Given the description of an element on the screen output the (x, y) to click on. 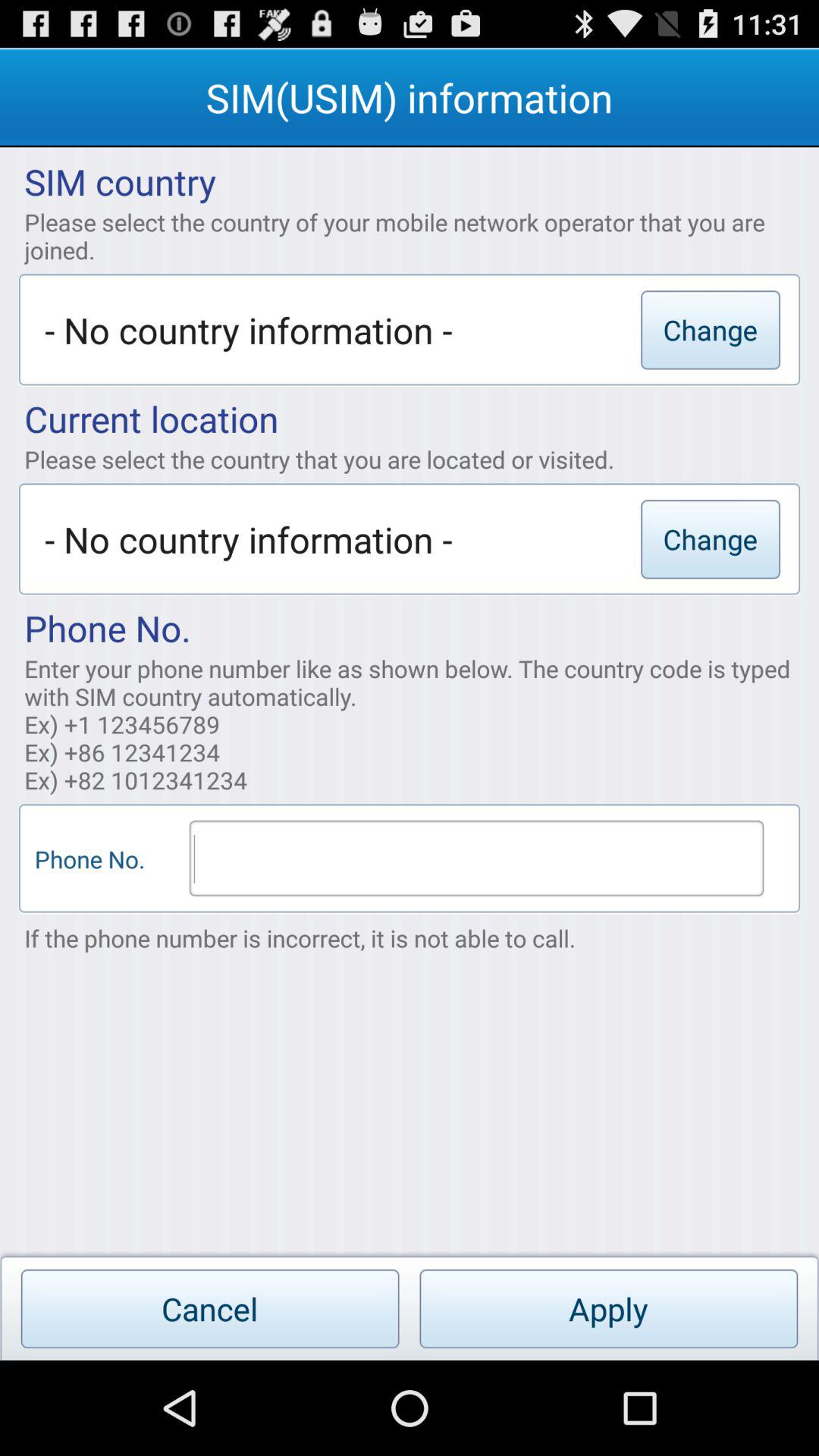
enter phone number (476, 858)
